Given the description of an element on the screen output the (x, y) to click on. 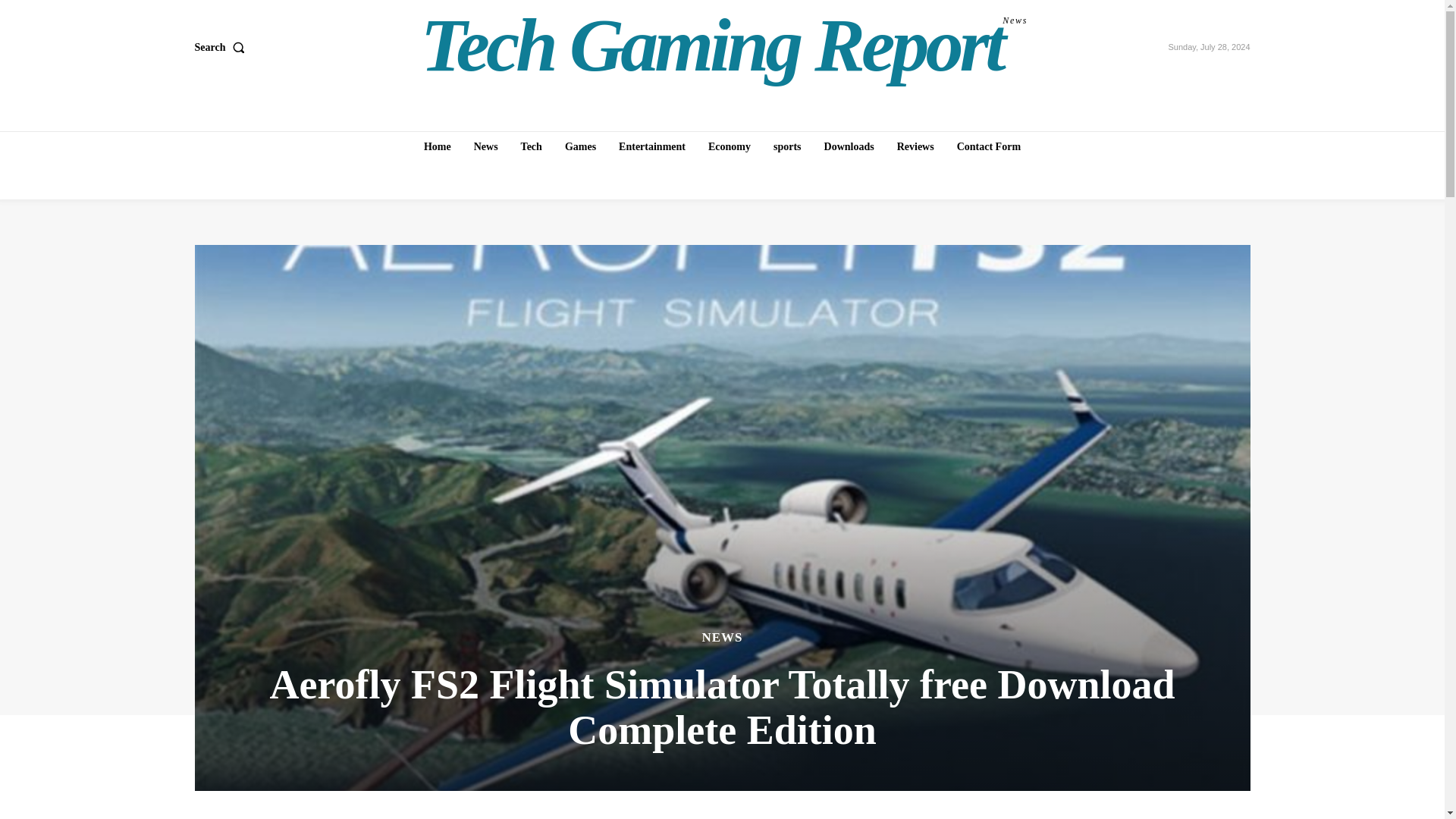
Downloads (849, 146)
Entertainment (652, 146)
Economy (729, 146)
Contact Form (988, 146)
Reviews (915, 146)
sports (787, 146)
Games (580, 146)
News (485, 146)
Search (221, 47)
Tech (531, 146)
Home (724, 45)
